Given the description of an element on the screen output the (x, y) to click on. 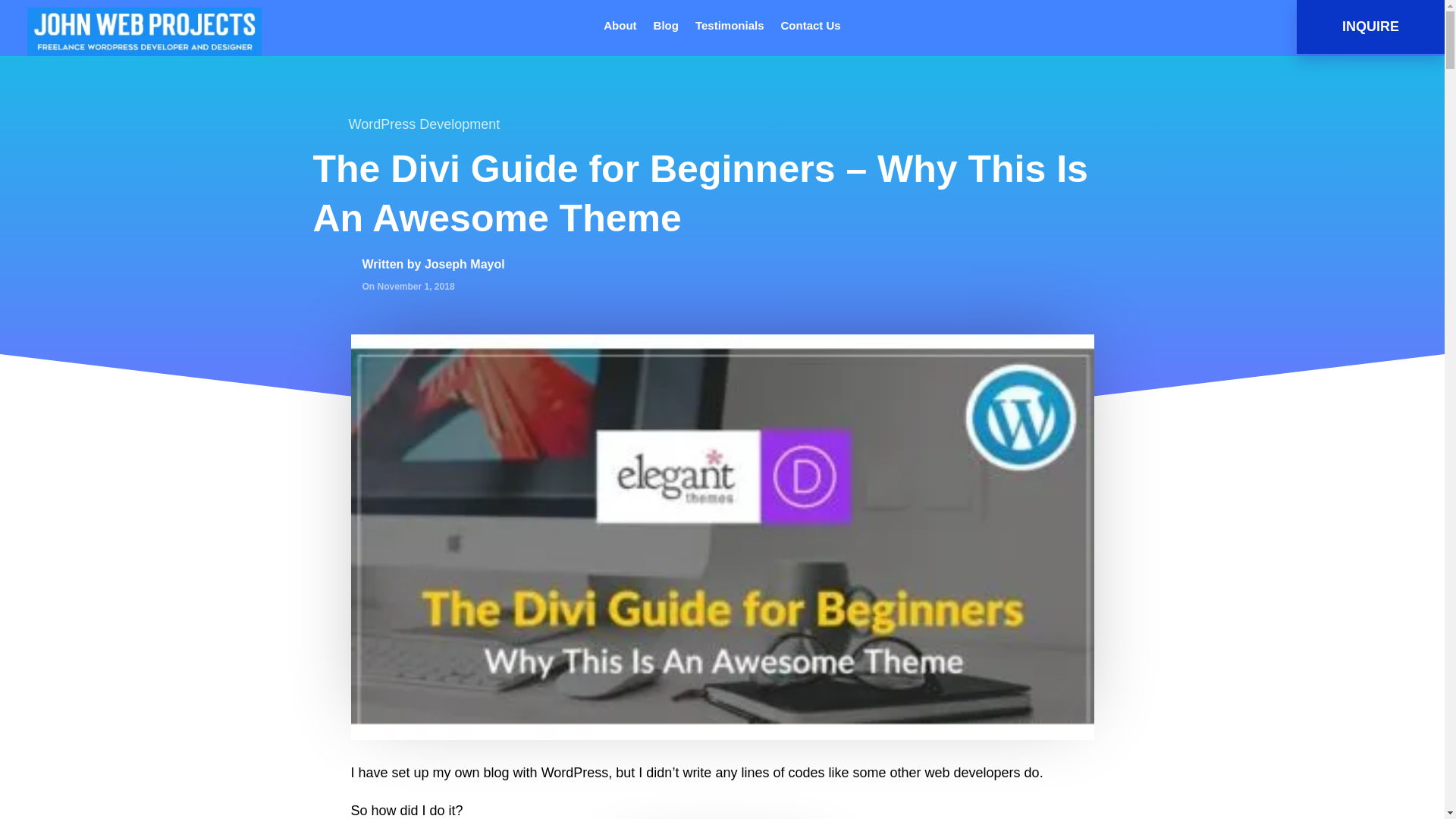
Testimonials (729, 28)
Contact Us (810, 28)
WordPress Development (424, 124)
Joseph Mayol (465, 264)
About (620, 28)
Blog (665, 28)
